Given the description of an element on the screen output the (x, y) to click on. 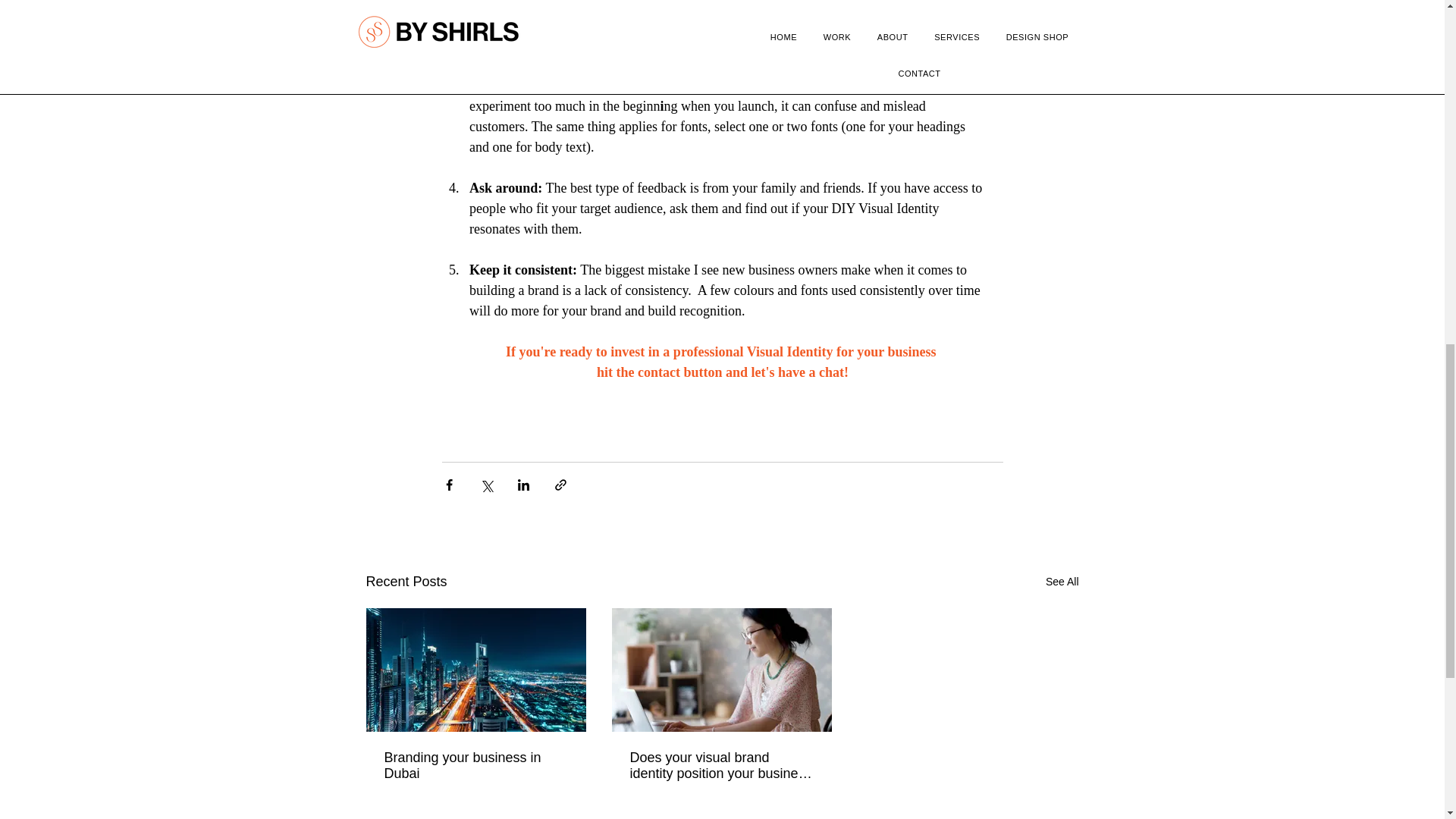
Branding your business in Dubai (475, 766)
See All (1061, 581)
